Given the description of an element on the screen output the (x, y) to click on. 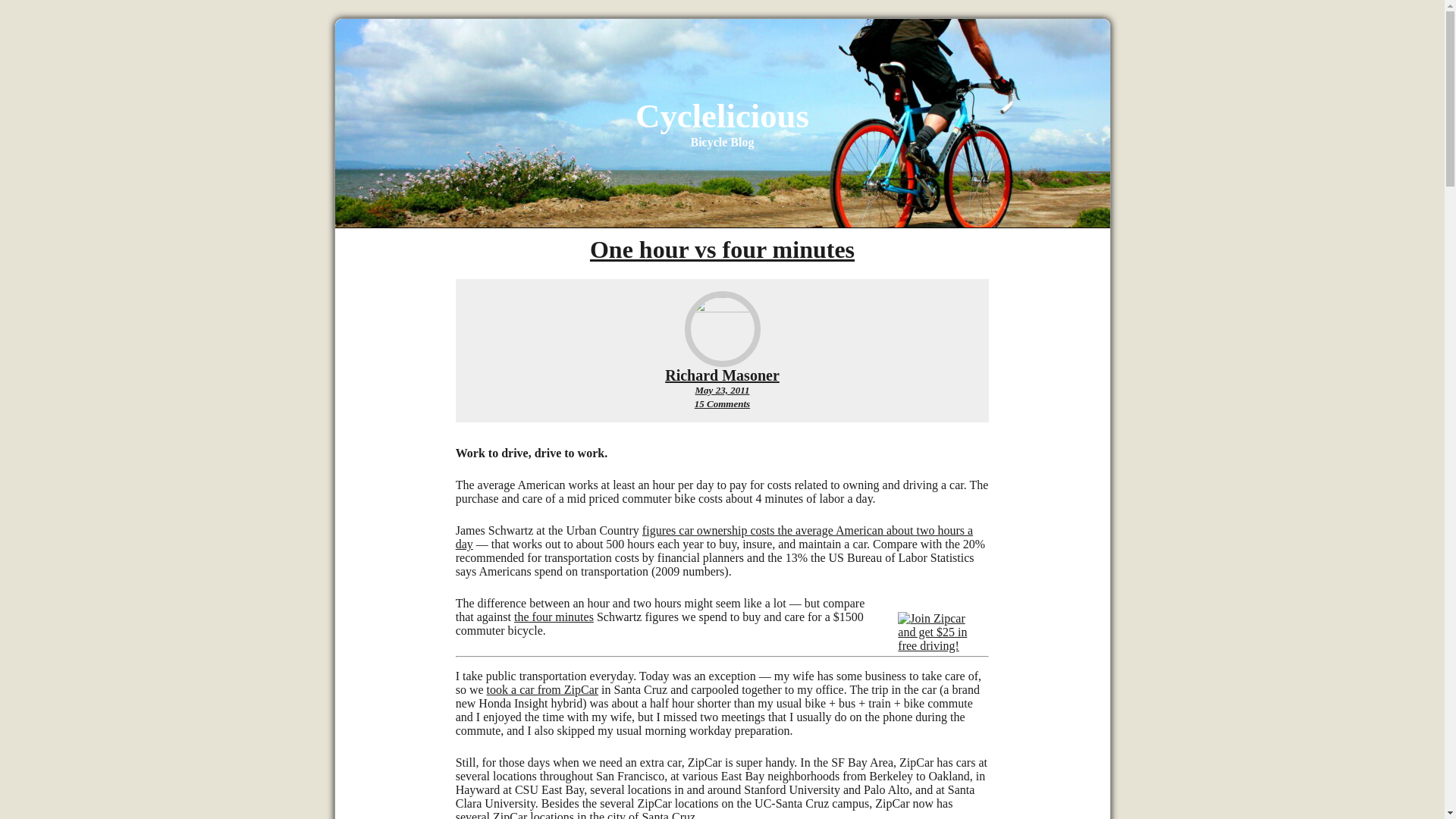
May 23, 2011 (721, 403)
Richard Masoner (722, 389)
the four minutes (721, 375)
View all posts by Richard Masoner (553, 616)
Skip to content (721, 375)
One hour vs four minutes (721, 116)
took a car from ZipCar (721, 248)
